Given the description of an element on the screen output the (x, y) to click on. 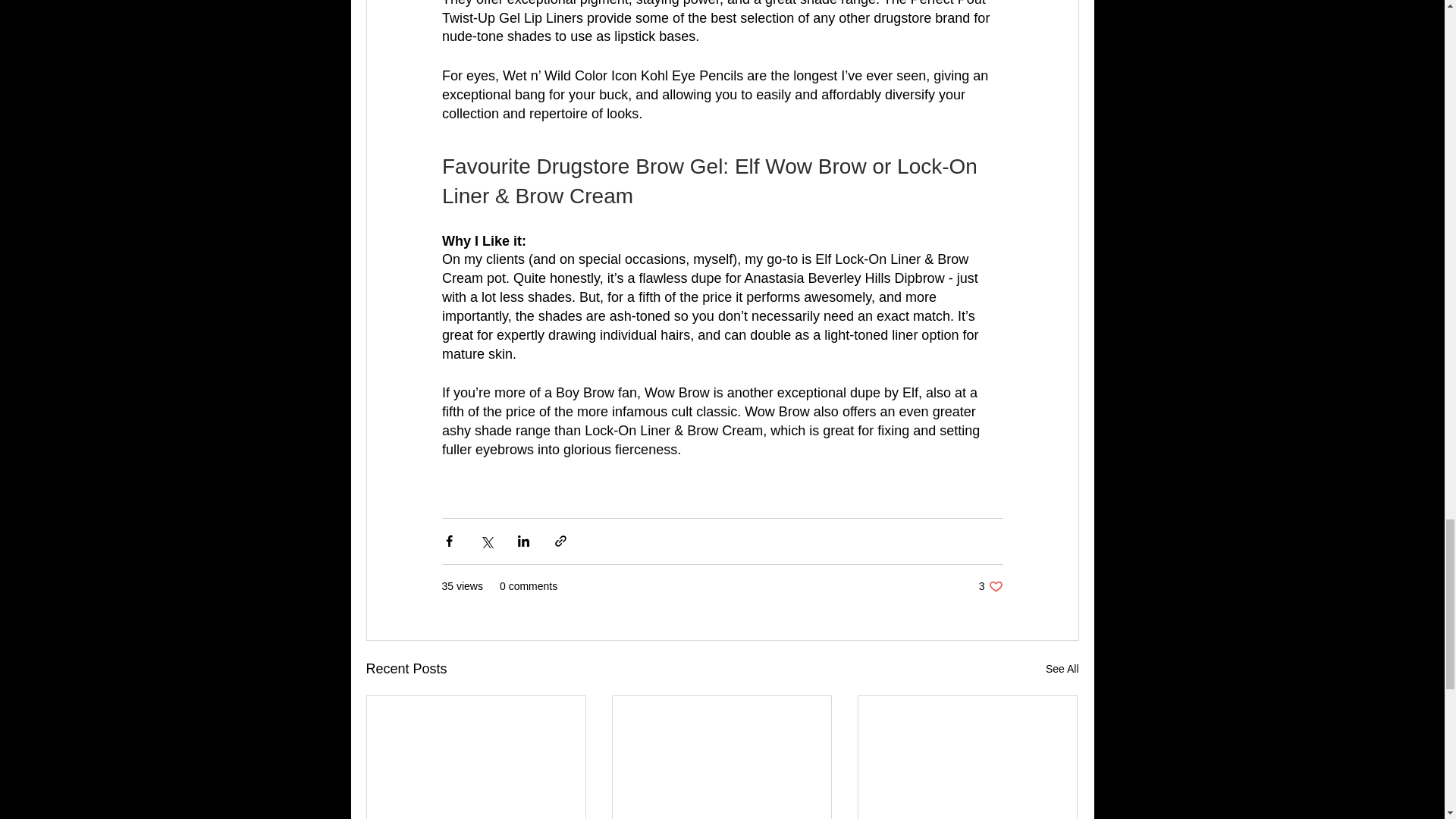
See All (1061, 669)
